Given the description of an element on the screen output the (x, y) to click on. 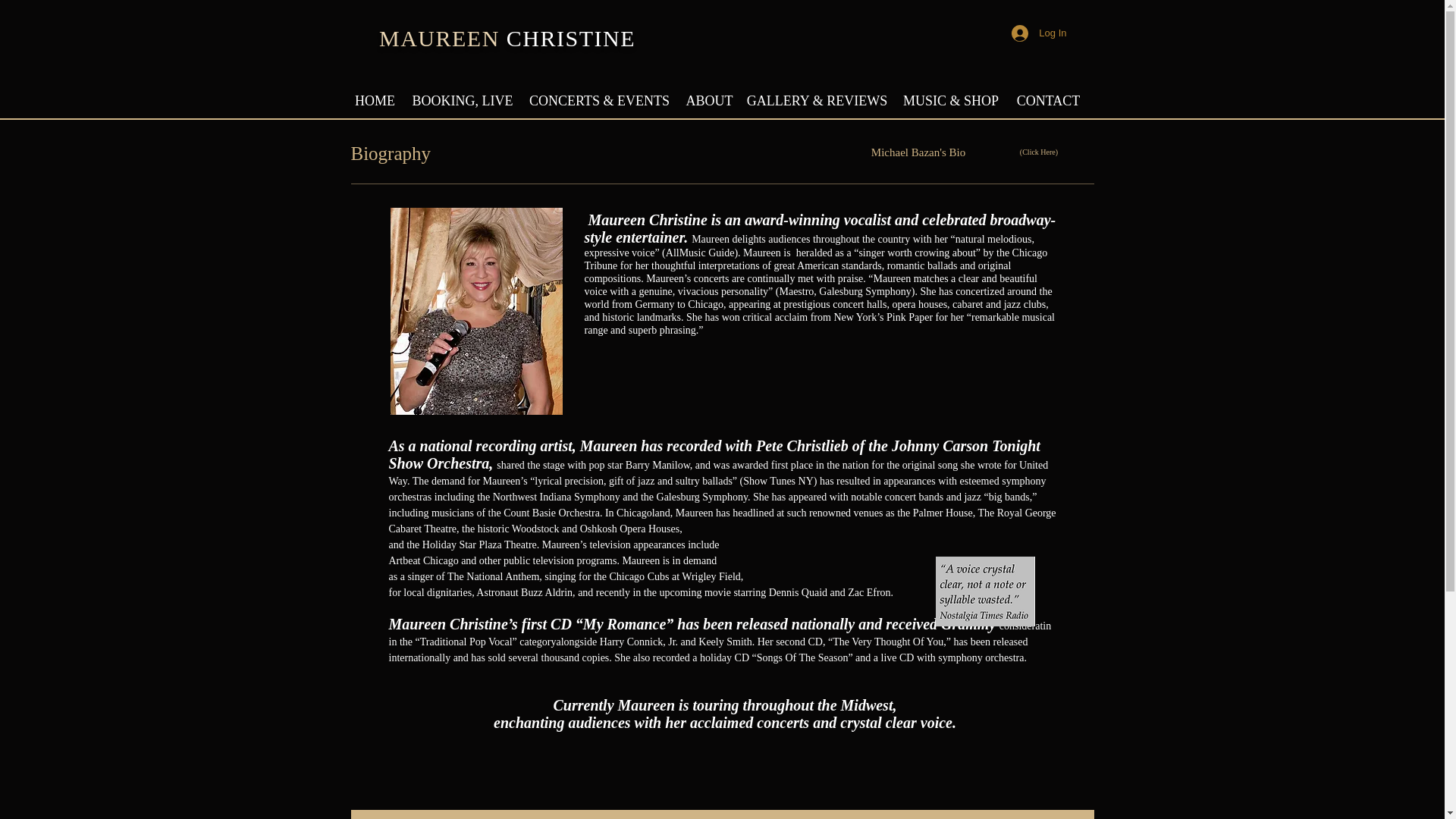
CONTACT (1049, 94)
MAUREEN CHRISTINE (506, 37)
Michael Bazan's Bio (917, 152)
Log In (1039, 32)
HOME (375, 94)
